Given the description of an element on the screen output the (x, y) to click on. 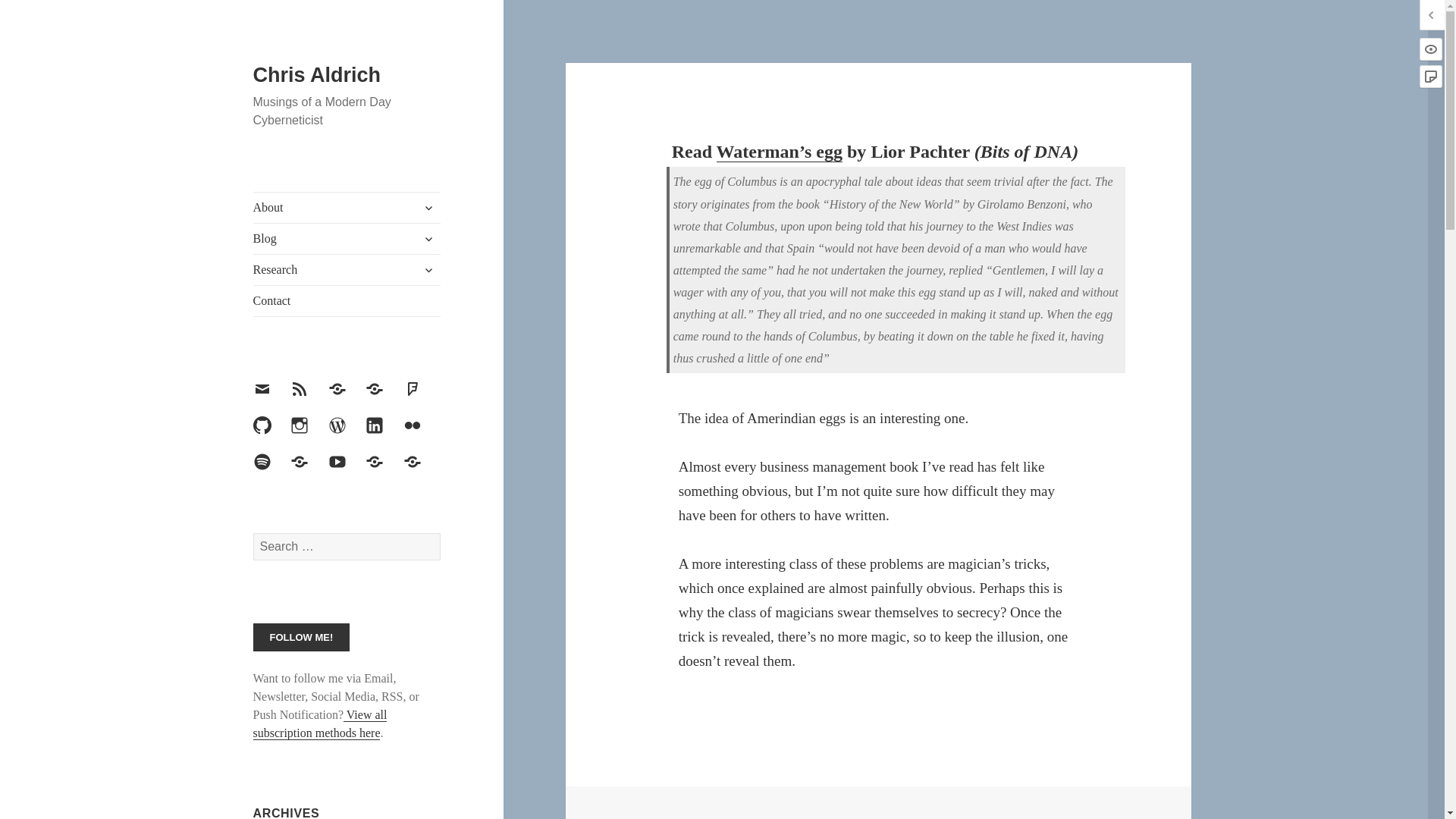
expand child menu (428, 207)
Chris Aldrich (317, 74)
Blog (347, 238)
About (347, 207)
expand child menu (428, 238)
Follow Me! (301, 637)
